Given the description of an element on the screen output the (x, y) to click on. 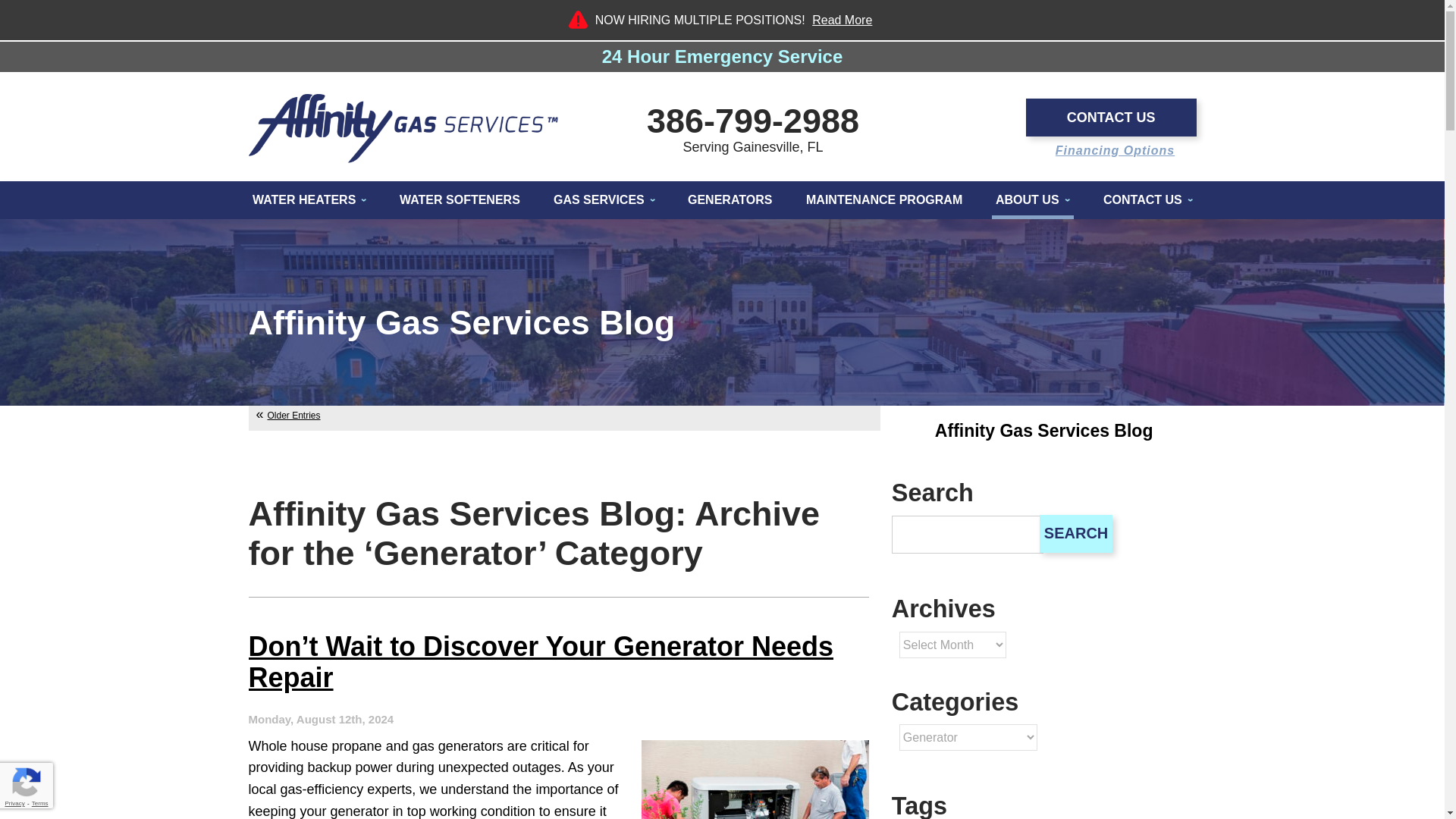
386-799-2988 (752, 120)
ABOUT US (1032, 199)
CONTACT US (1147, 199)
WATER HEATERS (308, 199)
GENERATORS (730, 199)
Read More (842, 19)
GAS SERVICES (604, 199)
WATER SOFTENERS (460, 199)
Financing Options (1114, 151)
CONTACT US (1111, 117)
